Given the description of an element on the screen output the (x, y) to click on. 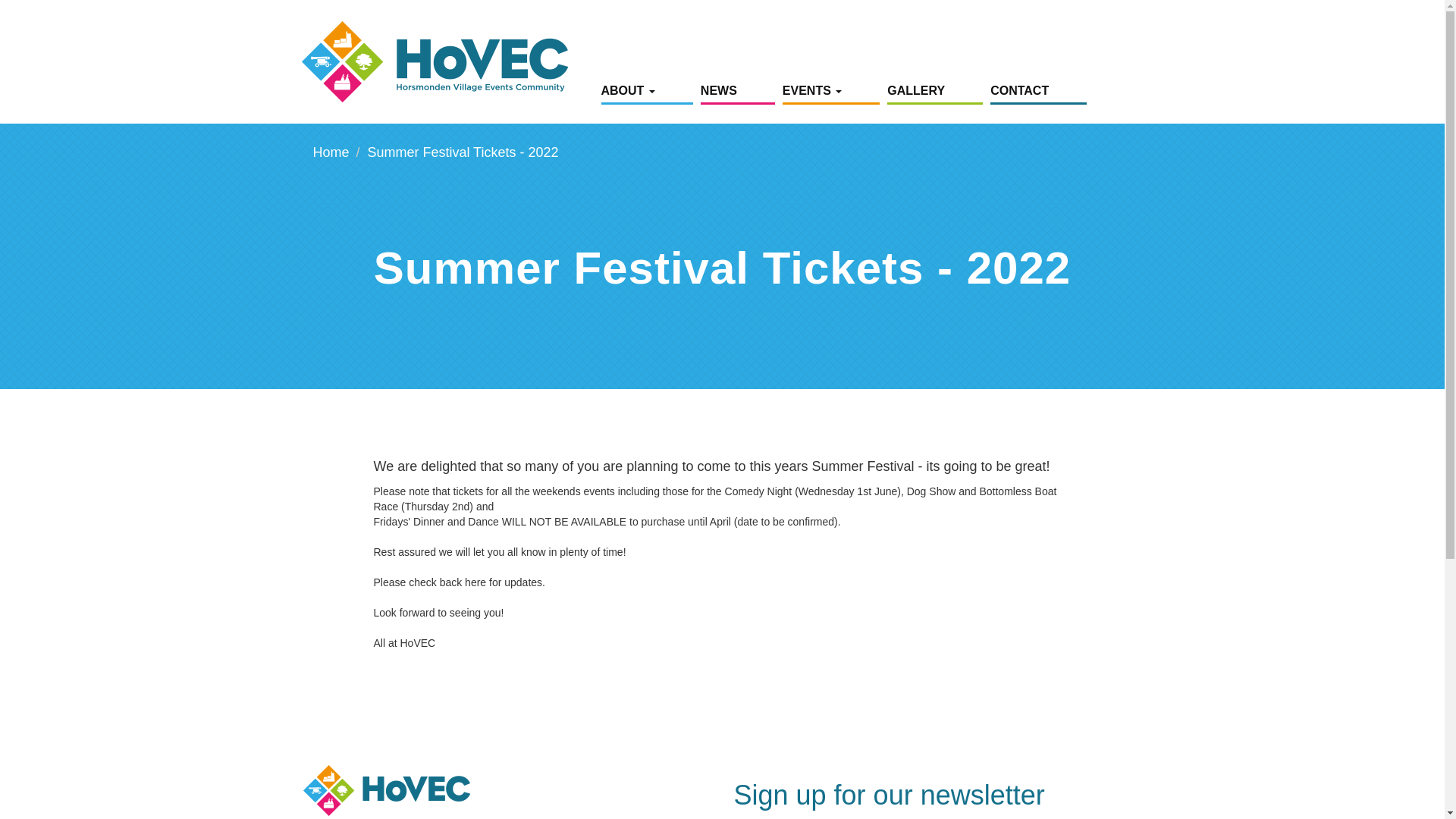
EVENTS (831, 93)
NEWS (737, 93)
ABOUT (646, 93)
Home (331, 151)
CONTACT (1038, 93)
Home (447, 61)
GALLERY (934, 93)
